Given the description of an element on the screen output the (x, y) to click on. 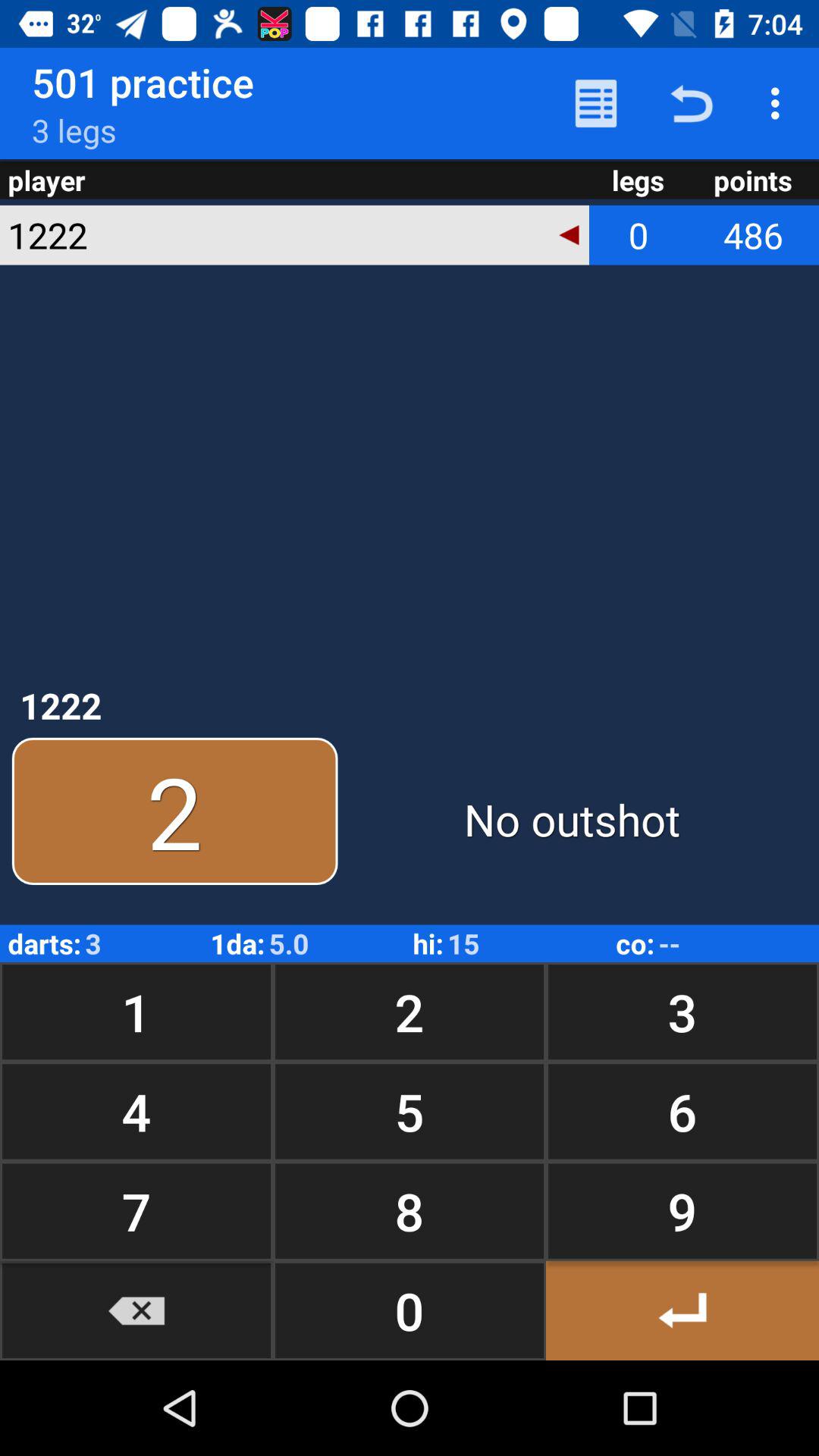
go to previous (682, 1310)
